Given the description of an element on the screen output the (x, y) to click on. 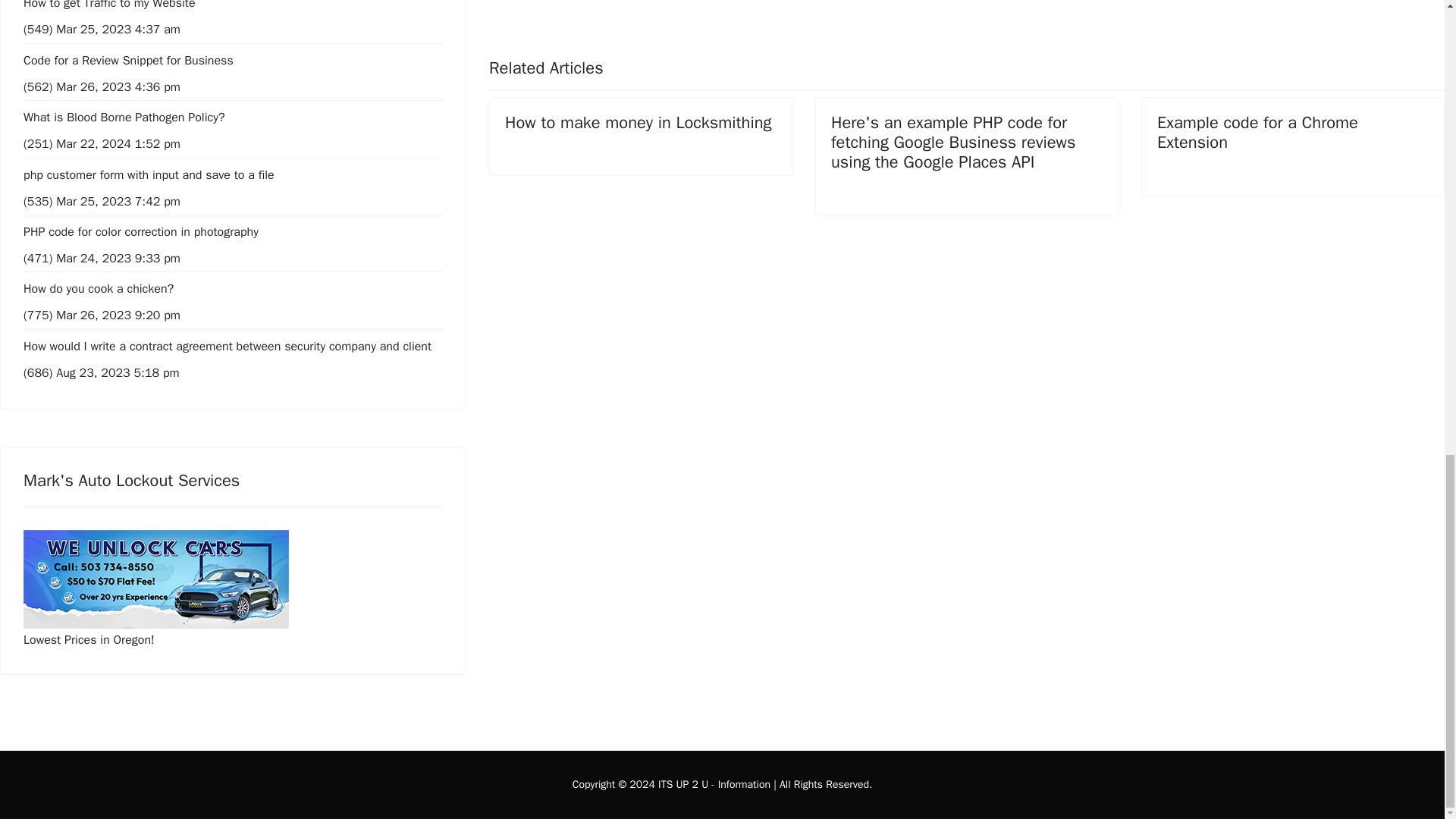
php customer form with input and save to a file (232, 174)
How to make money in Locksmithing (538, 25)
Mark's Auto Lockout Services (638, 122)
Example code for a Chrome Extension (232, 578)
PHP code for color correction in photography (1257, 132)
What is Blood Borne Pathogen Policy? (232, 232)
Code for a Review Snippet for Business (232, 117)
